Given the description of an element on the screen output the (x, y) to click on. 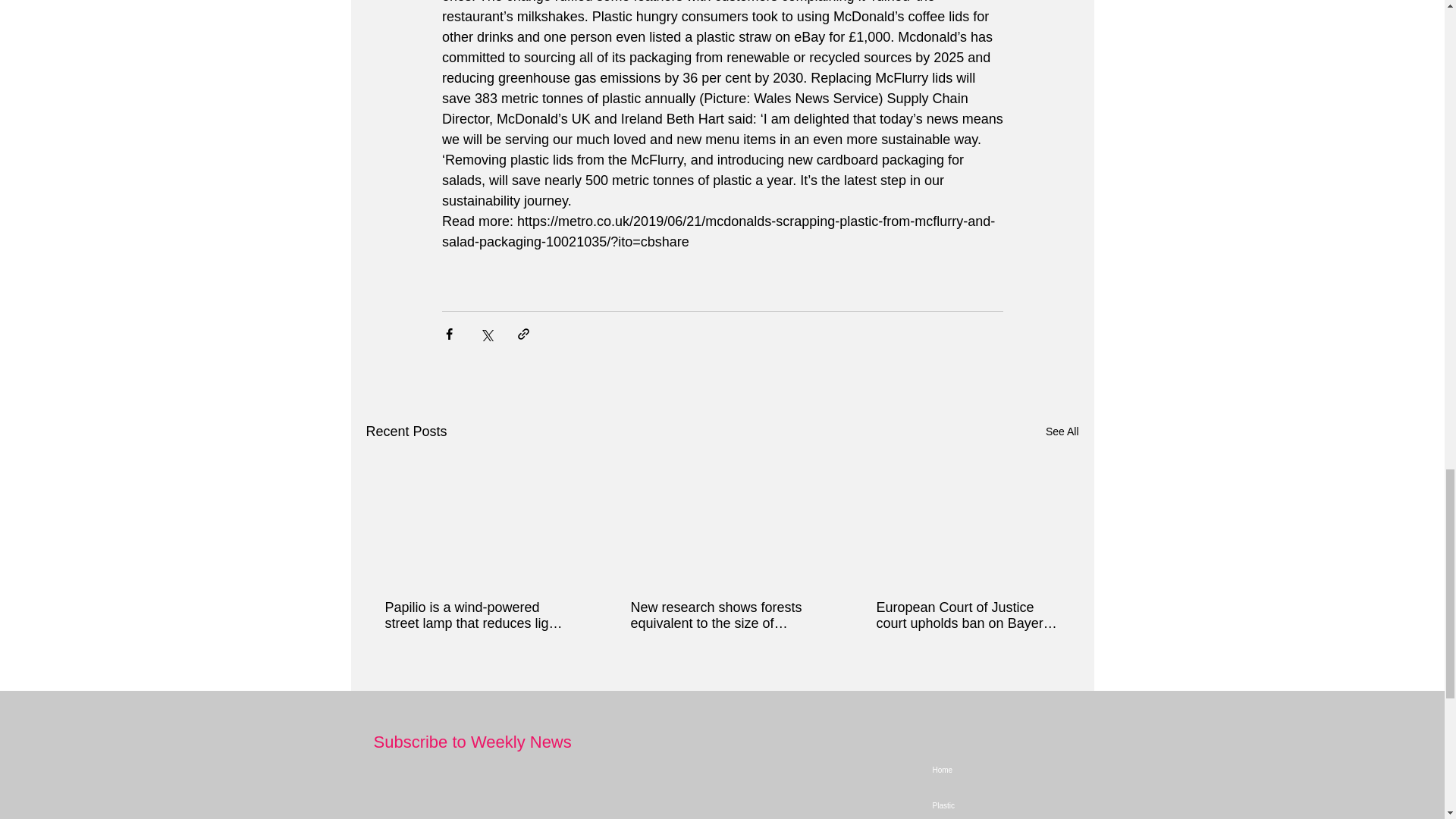
Subscribe to Weekly News (471, 741)
Home (1047, 769)
Plastic (1047, 803)
See All (1061, 431)
